Given the description of an element on the screen output the (x, y) to click on. 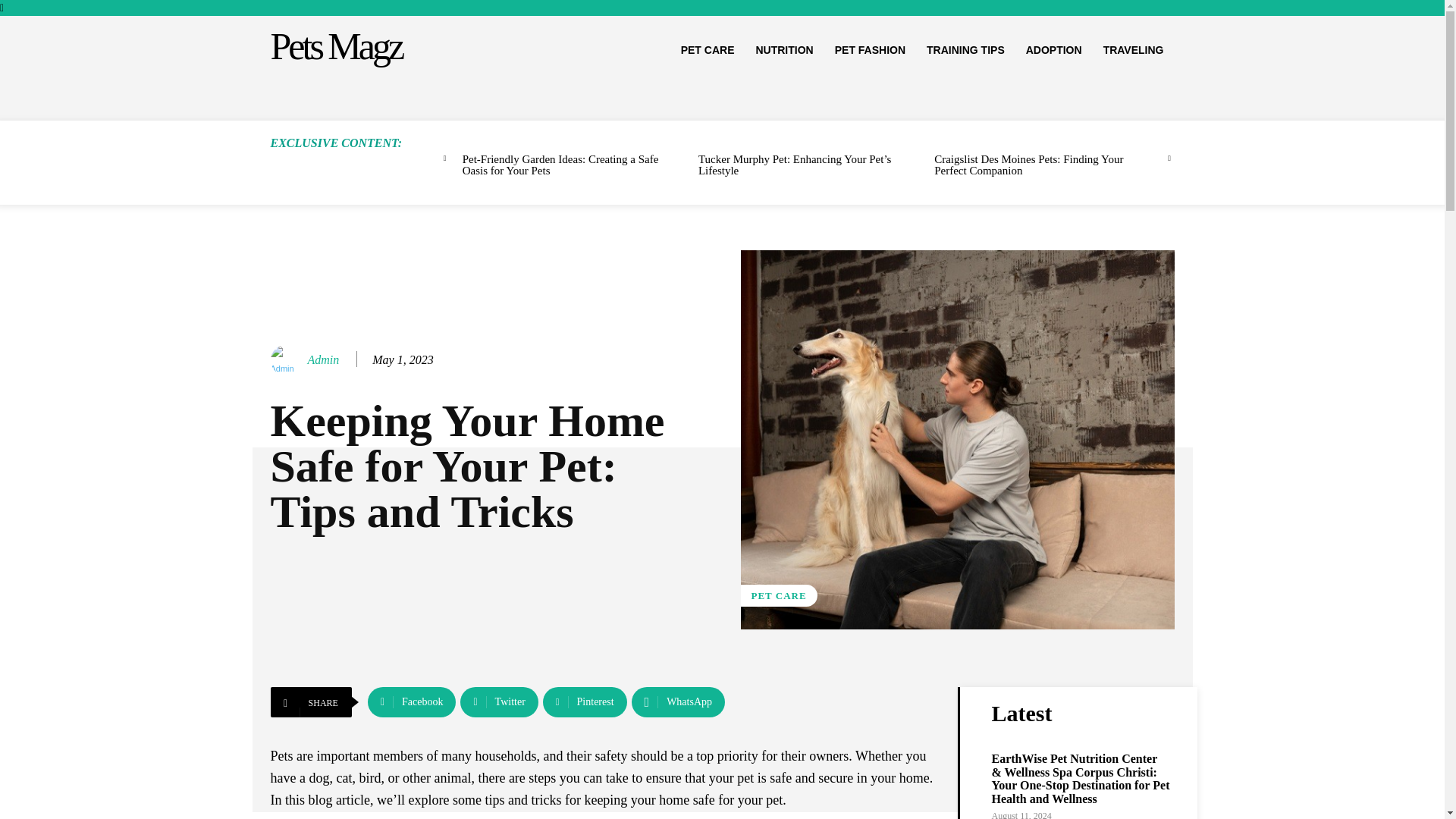
Craigslist Des Moines Pets: Finding Your Perfect Companion (1028, 164)
Facebook (412, 702)
Pinterest (585, 702)
TRAINING TIPS (964, 49)
TRAVELING (1133, 49)
Admin (323, 359)
PET CARE (777, 595)
Admin (286, 359)
Pinterest (585, 702)
